Given the description of an element on the screen output the (x, y) to click on. 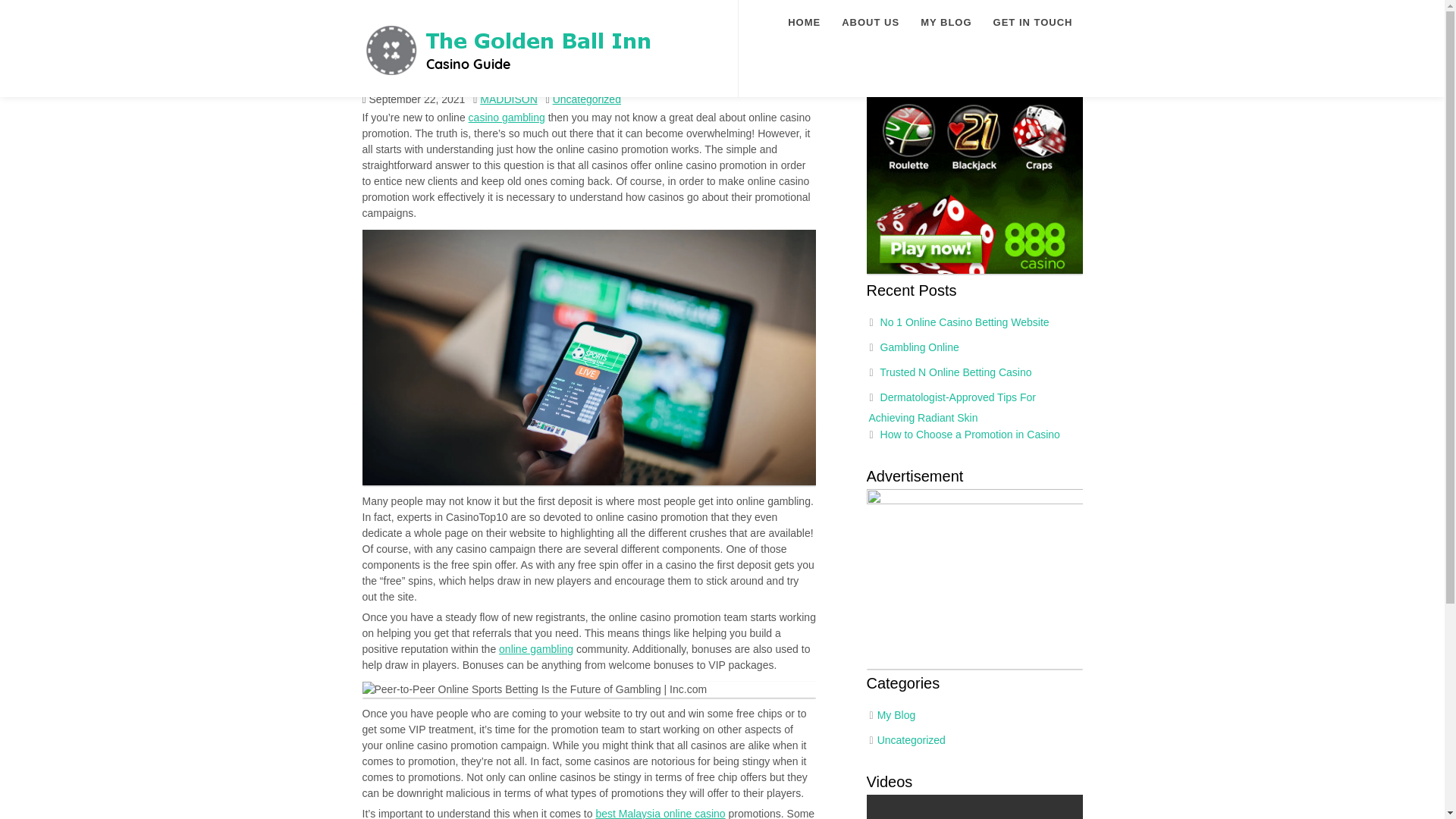
ABOUT US (870, 22)
Dermatologist-Approved Tips For Achieving Radiant Skin (952, 407)
MY BLOG (945, 22)
GET IN TOUCH (1032, 22)
HOME (804, 22)
Gambling Online (919, 346)
Uncategorized (587, 99)
No 1 Online Casino Betting Website (964, 321)
casino gambling (506, 117)
Uncategorized (910, 739)
